Given the description of an element on the screen output the (x, y) to click on. 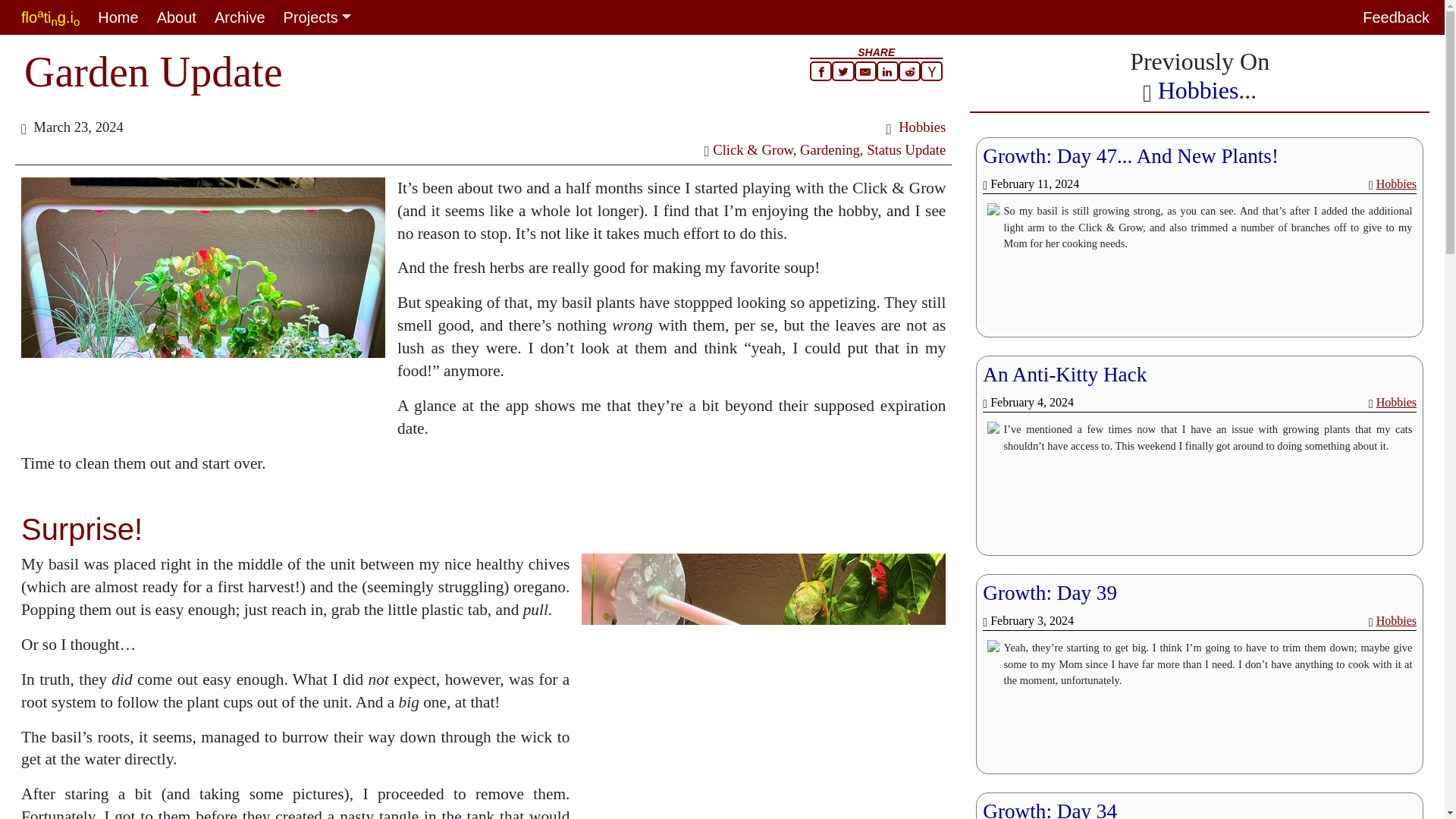
Growth: Day 39 (1049, 592)
Projects (317, 17)
An Anti-Kitty Hack (1064, 374)
Garden Update (153, 71)
Share on LinkedIn (887, 71)
Status Update (905, 149)
Hobbies (1395, 401)
floating.io (50, 17)
Archive (239, 17)
Growth: Day 47... And New Plants! (1130, 155)
